Given the description of an element on the screen output the (x, y) to click on. 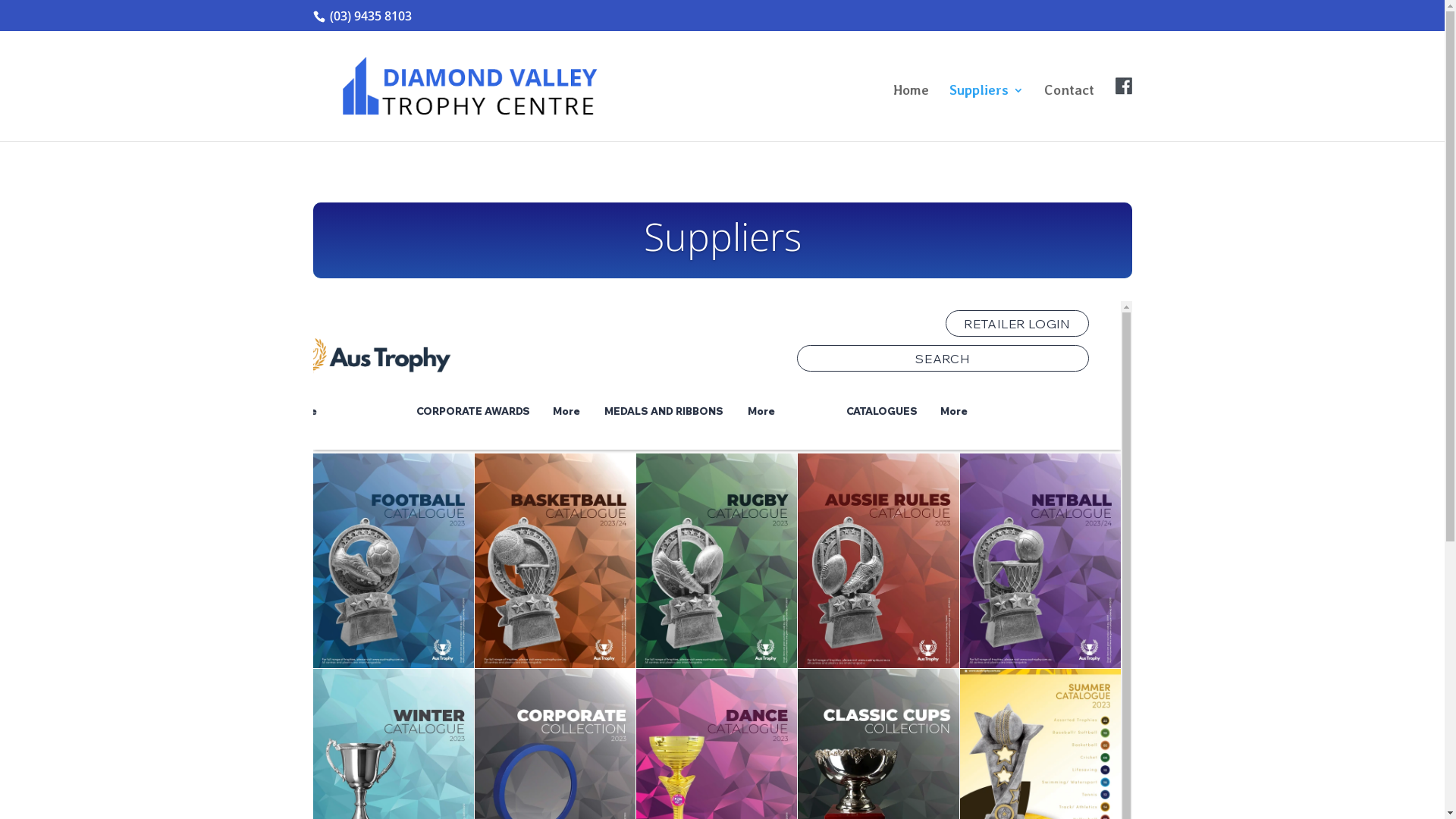
Suppliers Element type: text (986, 112)
Contact Element type: text (1068, 112)
Home Element type: text (910, 112)
